Given the description of an element on the screen output the (x, y) to click on. 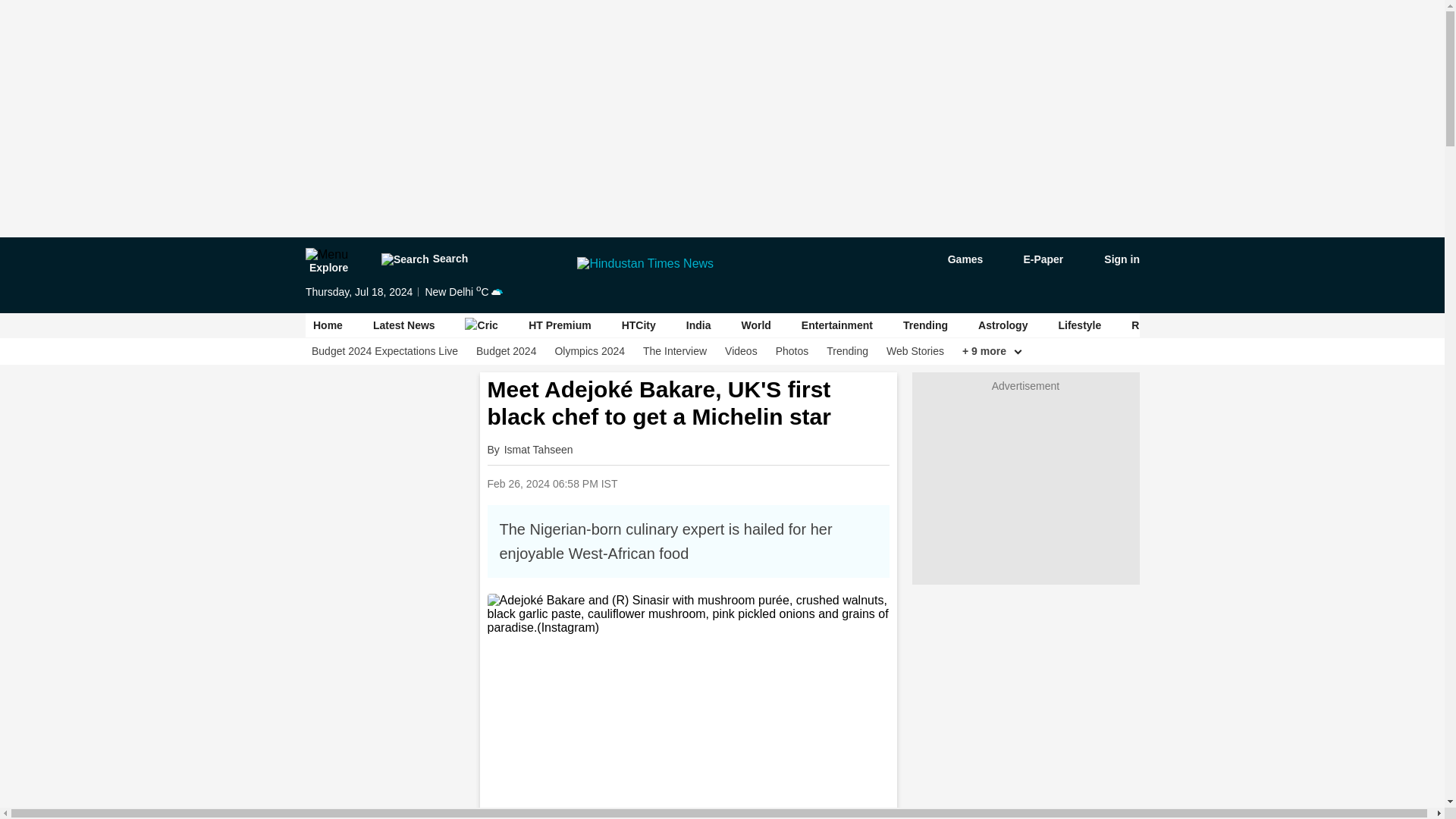
HT Premium (559, 325)
Web Stories (914, 350)
Real Estate (1159, 325)
Trending (847, 350)
Videos (741, 350)
Home (327, 325)
Astrology (1002, 325)
Education (1243, 325)
Olympics 2024 (589, 350)
Games (954, 258)
Latest News (402, 325)
Share on Linkdin (788, 483)
epaper (1034, 258)
game (954, 258)
Photos (791, 350)
